Given the description of an element on the screen output the (x, y) to click on. 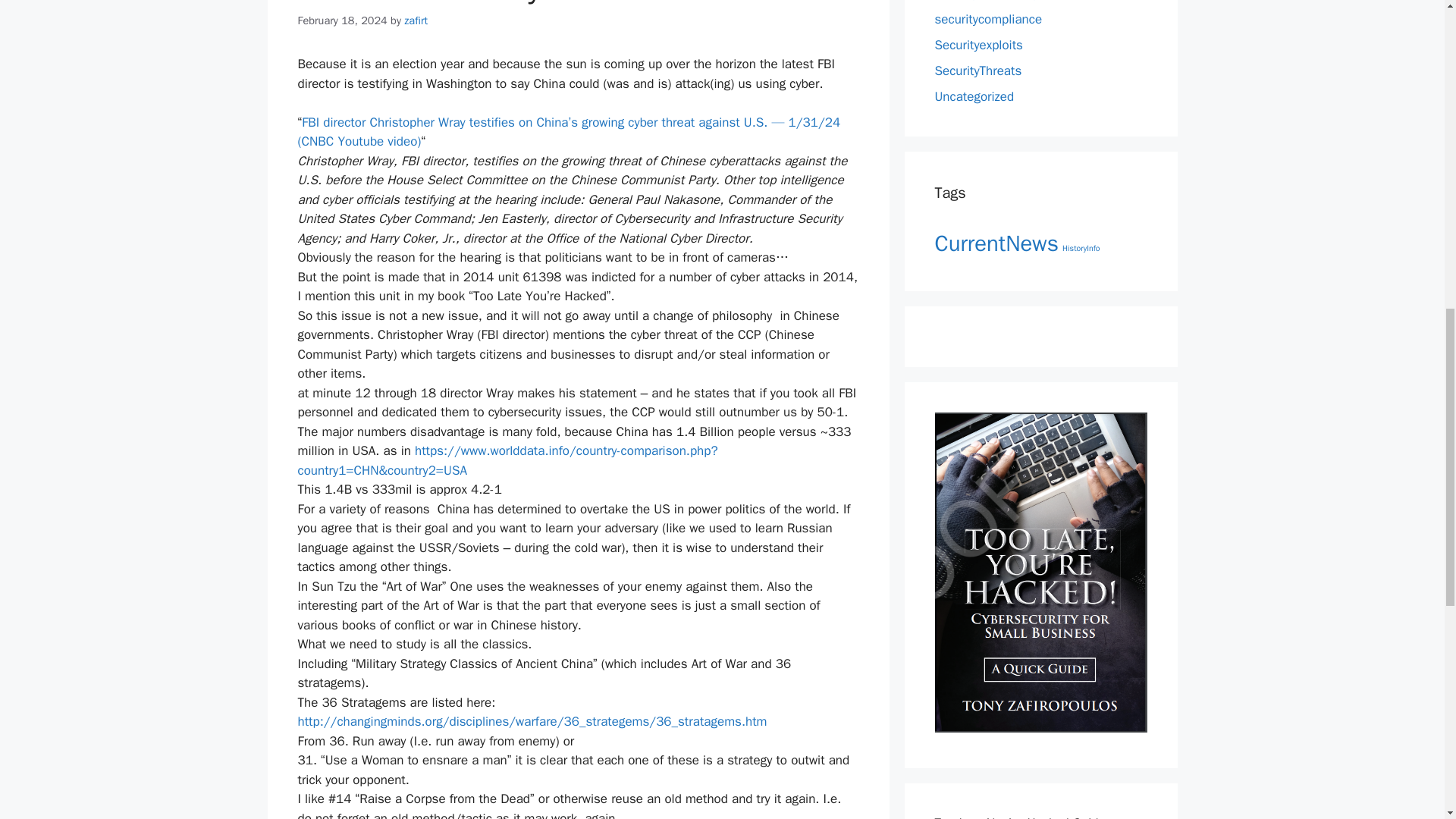
View all posts by zafirt (416, 20)
securitycompliance (988, 18)
zafirt (416, 20)
